Given the description of an element on the screen output the (x, y) to click on. 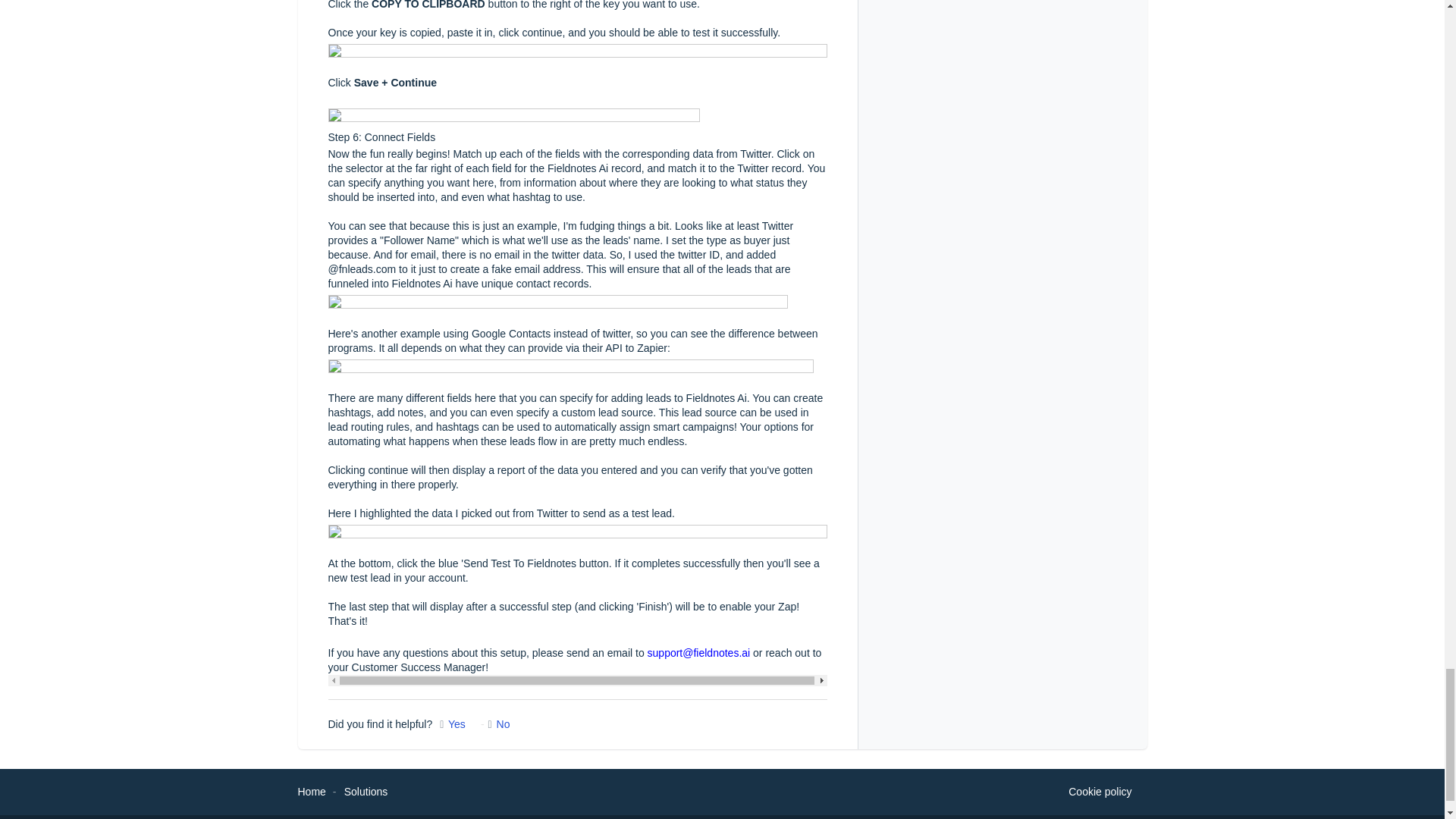
Why we love Cookies (1099, 791)
Cookie policy (1099, 791)
Solutions (365, 791)
Home (310, 791)
